Given the description of an element on the screen output the (x, y) to click on. 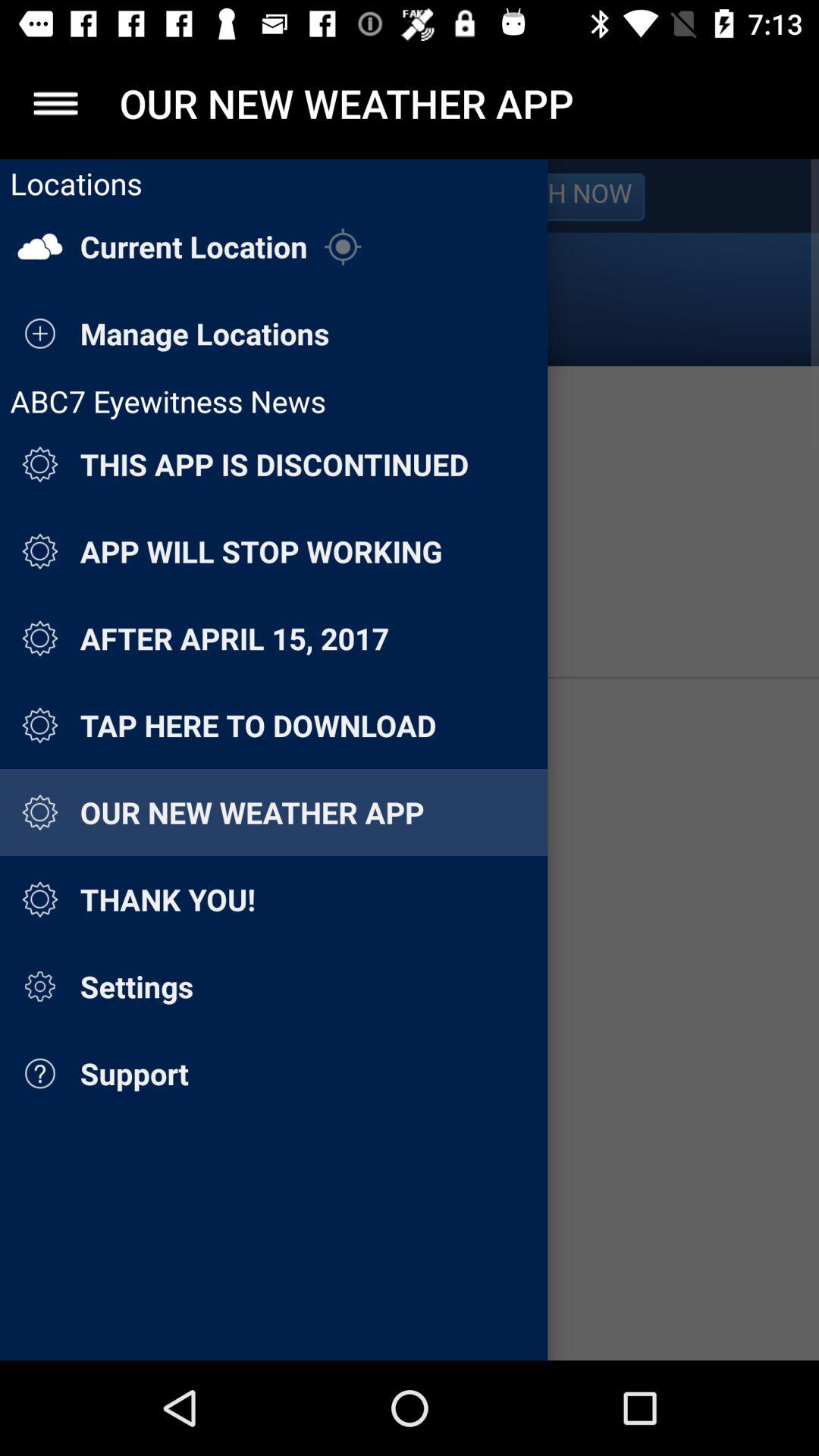
menu toggle (55, 103)
